Given the description of an element on the screen output the (x, y) to click on. 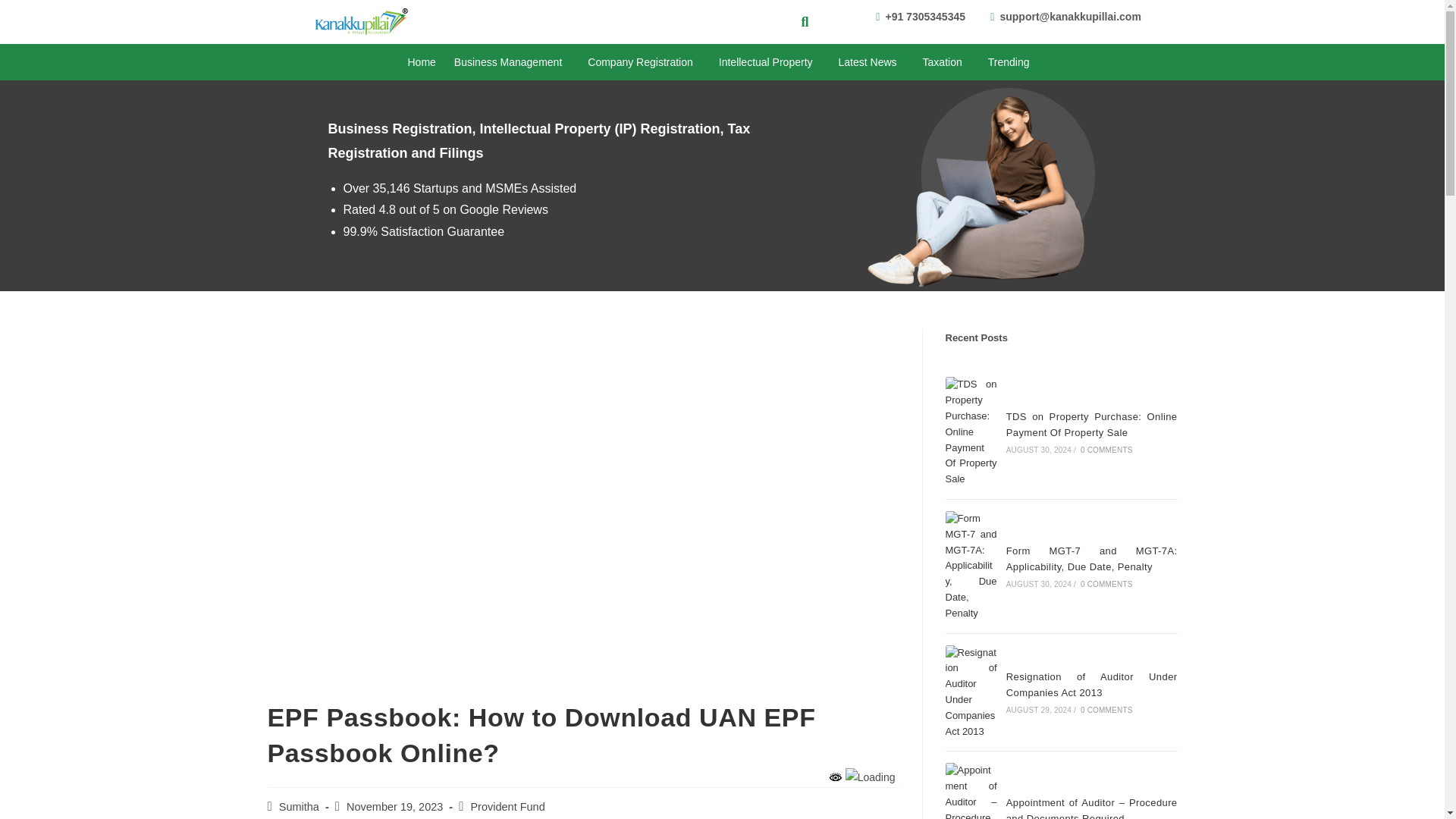
Home (421, 61)
Company Registration (644, 61)
Latest News (871, 61)
Business Management (511, 61)
Posts by Sumitha (298, 806)
Intellectual Property (769, 61)
Taxation (946, 61)
